Given the description of an element on the screen output the (x, y) to click on. 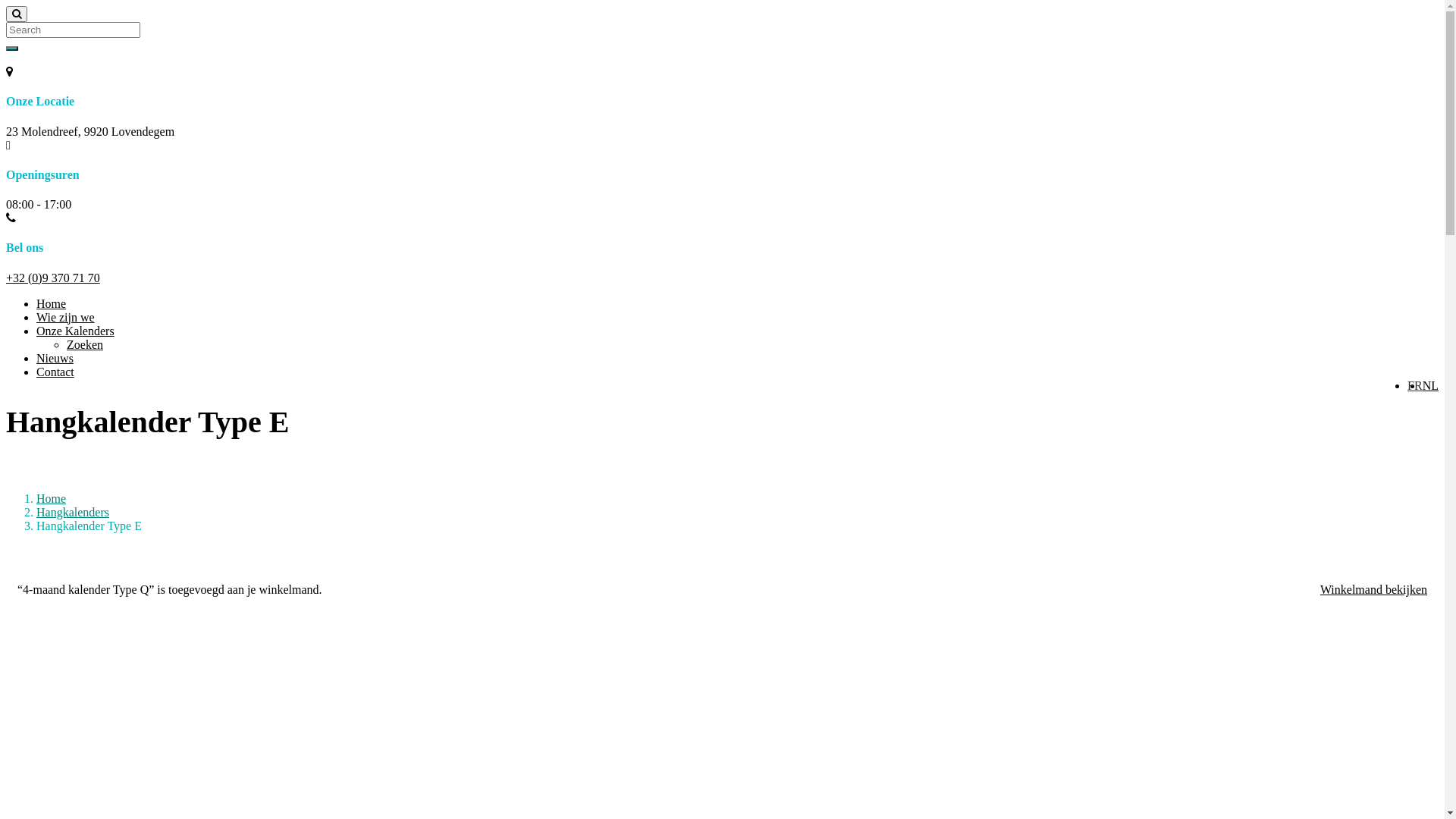
Nieuws Element type: text (54, 357)
NL Element type: text (1430, 385)
Wie zijn we Element type: text (65, 316)
FR Element type: text (1414, 385)
Search for: Element type: hover (73, 29)
Home Element type: text (50, 303)
+32 (0)9 370 71 70 Element type: text (53, 277)
Winkelmand bekijken Element type: text (1373, 589)
Contact Element type: text (55, 371)
Hangkalenders Element type: text (72, 511)
Home Element type: text (50, 498)
Zoeken Element type: text (84, 344)
Onze Kalenders Element type: text (75, 330)
